Given the description of an element on the screen output the (x, y) to click on. 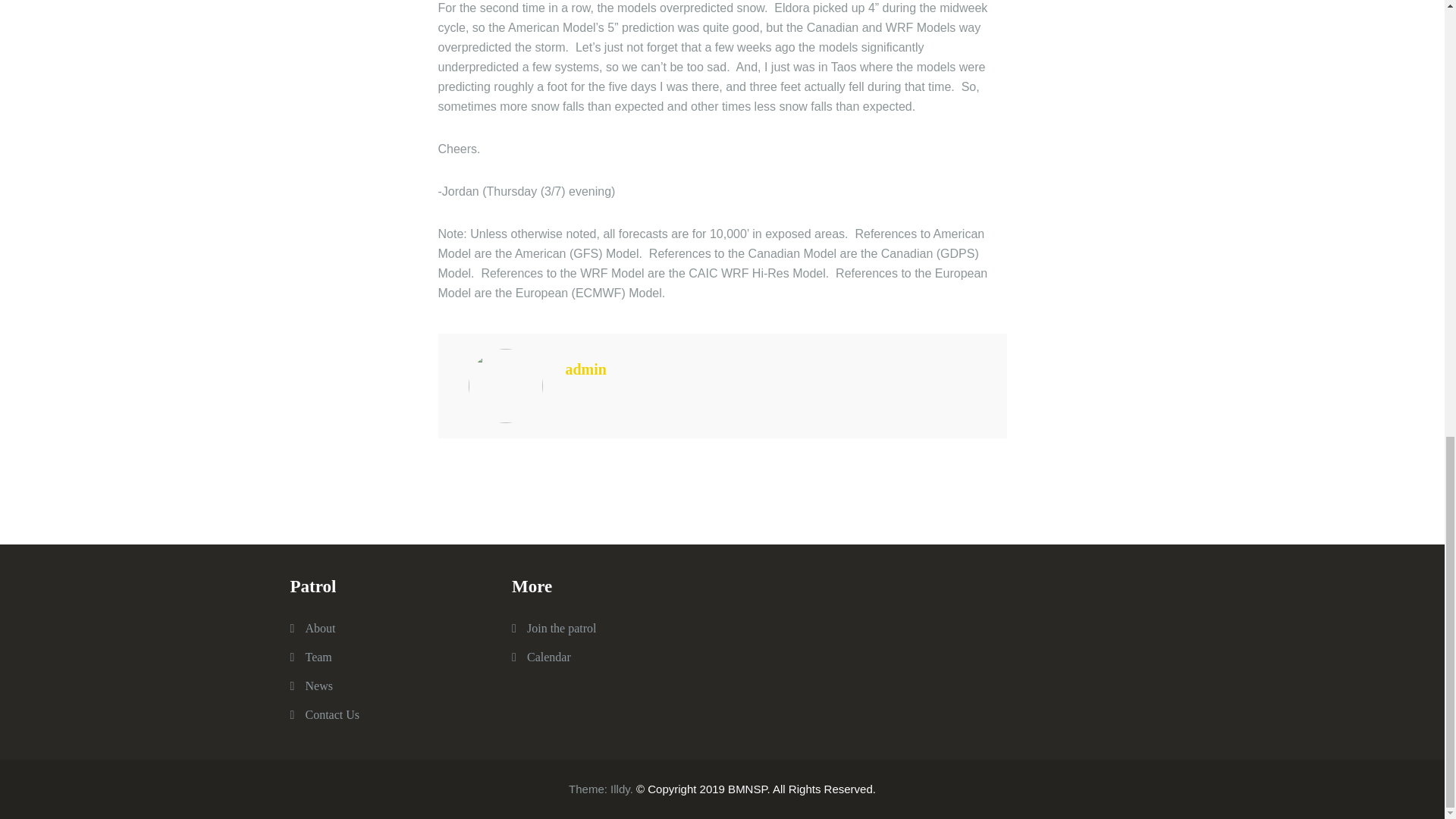
Illdy (620, 788)
Join (561, 627)
News (317, 685)
Our work (319, 627)
Announcement (331, 714)
Terms (548, 656)
Club (317, 656)
